Given the description of an element on the screen output the (x, y) to click on. 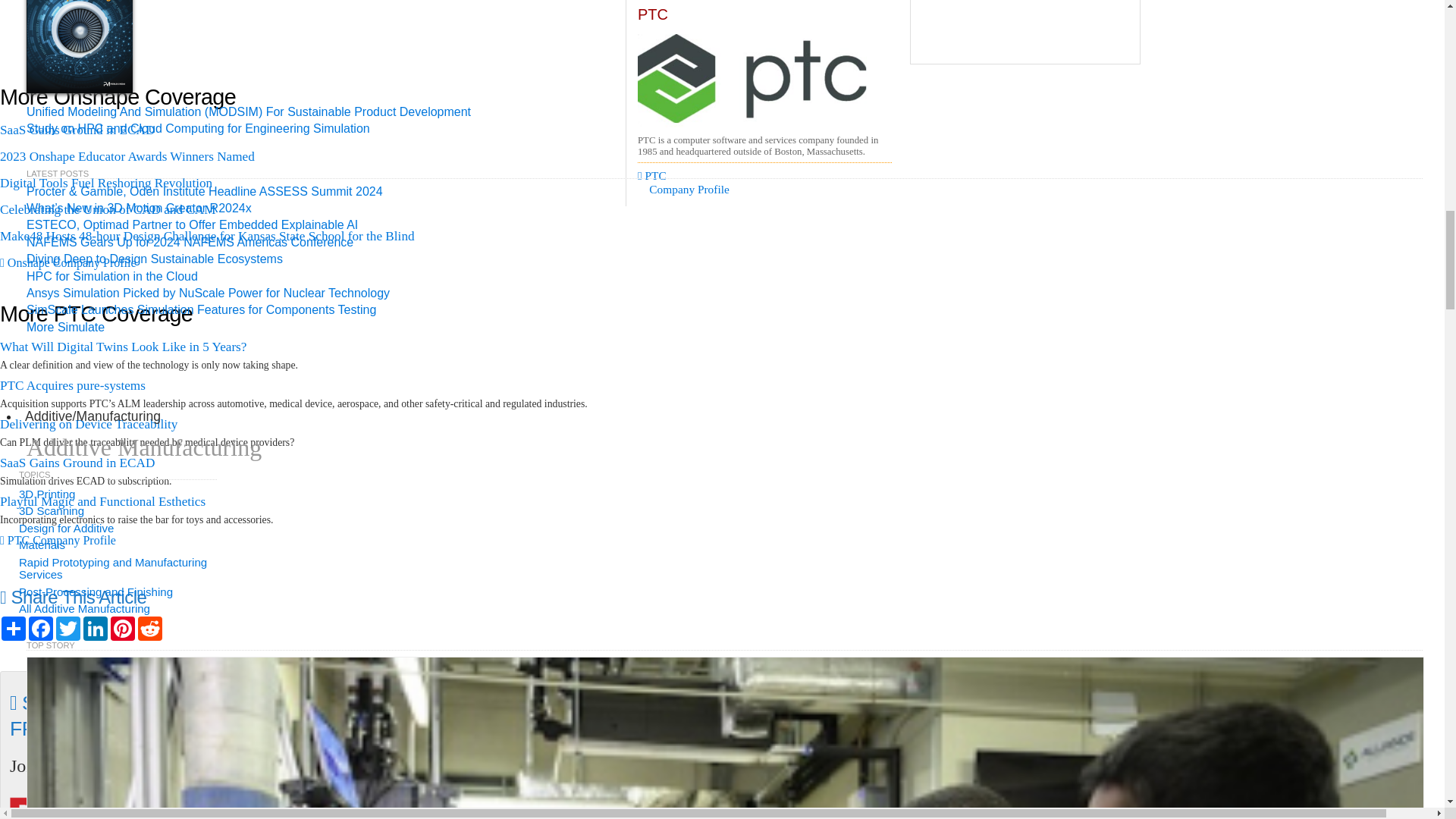
Spotlight on Cloud-First Innovators (764, 54)
3rd party ad content (1024, 31)
YouTube video player (212, 22)
